Given the description of an element on the screen output the (x, y) to click on. 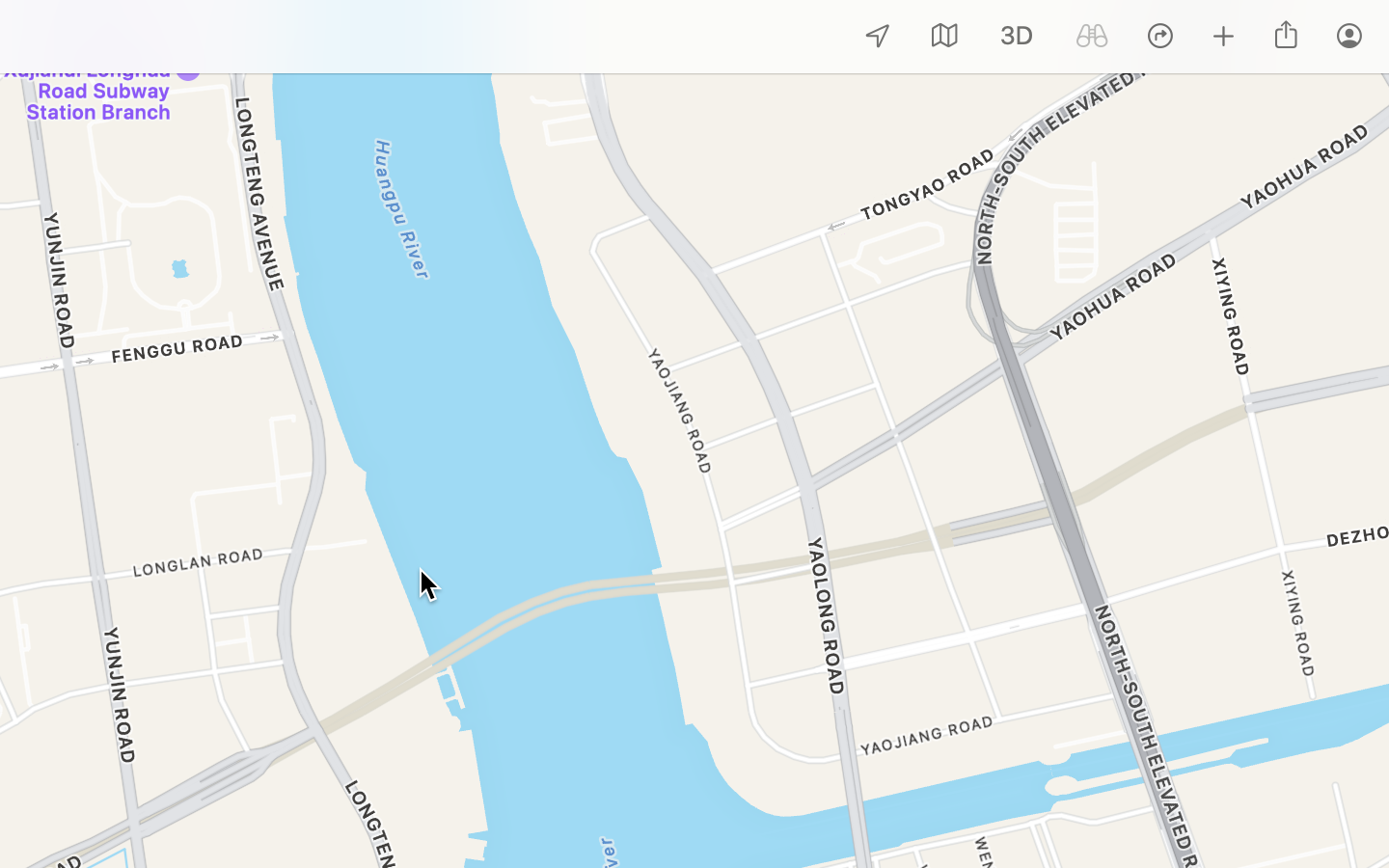
0 Element type: AXCheckBox (1016, 36)
